Given the description of an element on the screen output the (x, y) to click on. 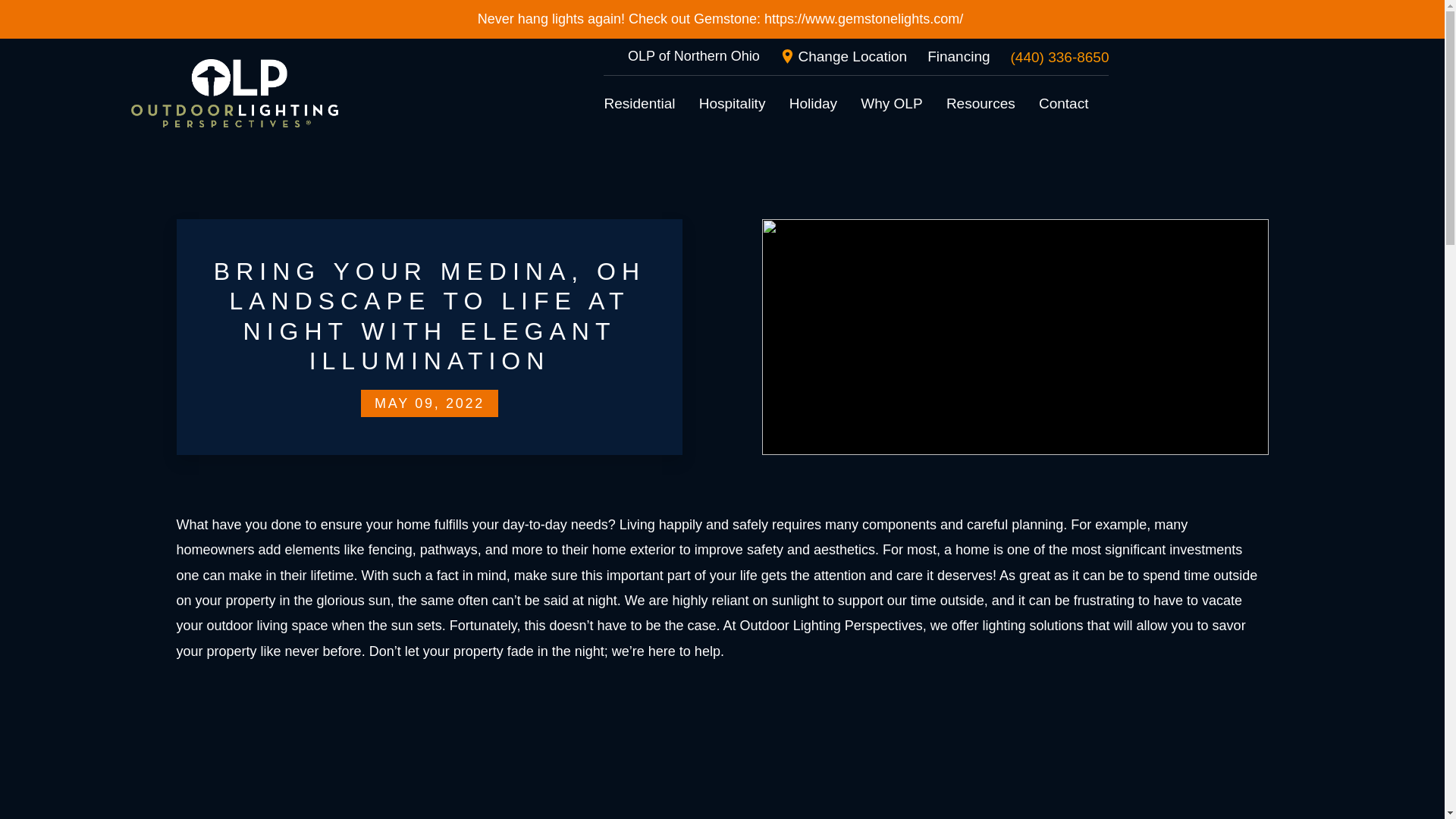
Financing (958, 56)
Residential (639, 103)
Change Location (843, 56)
Outdoor Lighting Perspectives (234, 92)
Hospitality (731, 103)
